Given the description of an element on the screen output the (x, y) to click on. 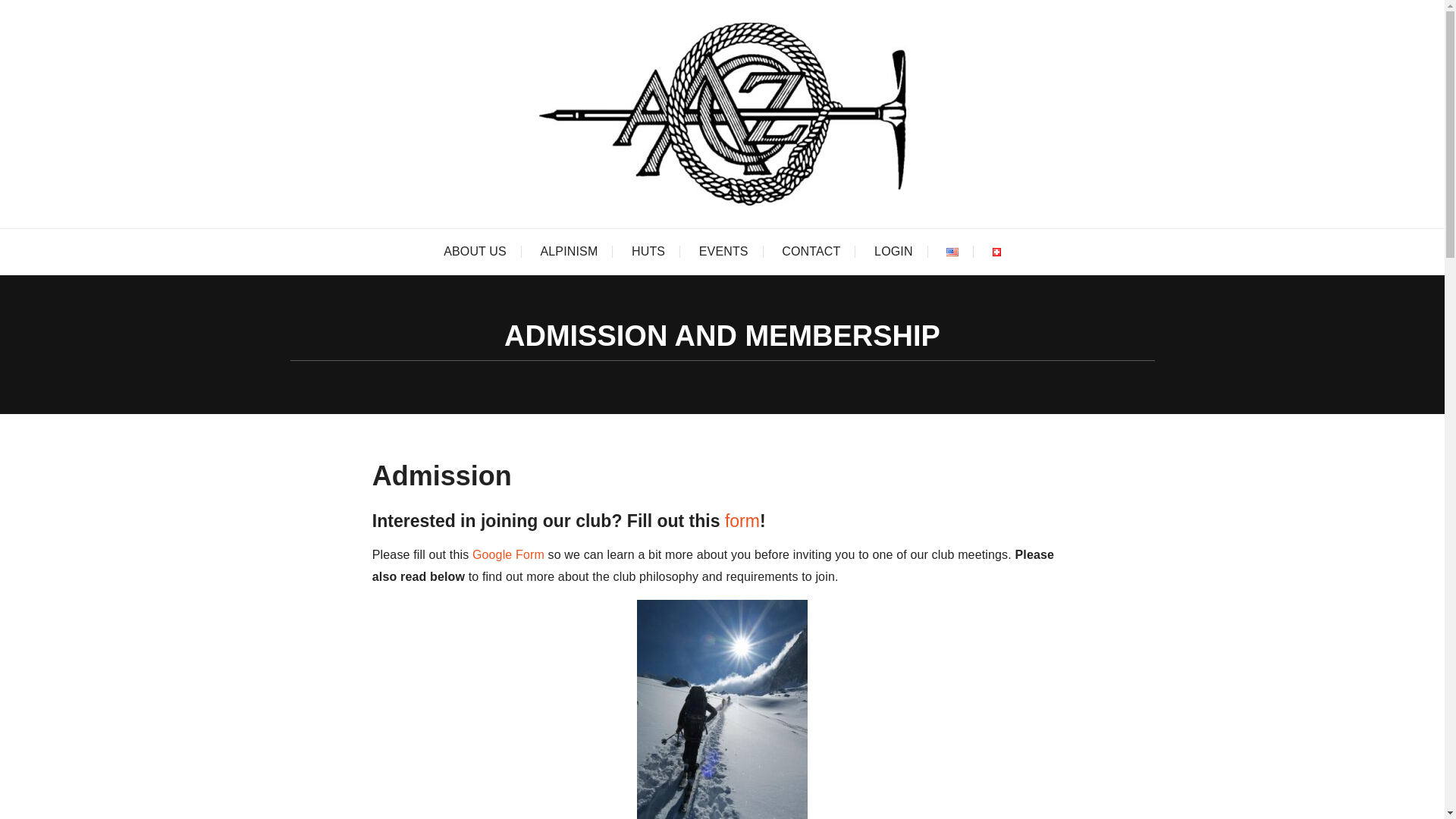
CONTACT (811, 251)
ALPINISM (568, 251)
Google Form (507, 554)
EVENTS (723, 251)
ABOUT US (474, 251)
HUTS (647, 251)
form (742, 520)
LOGIN (893, 251)
